Given the description of an element on the screen output the (x, y) to click on. 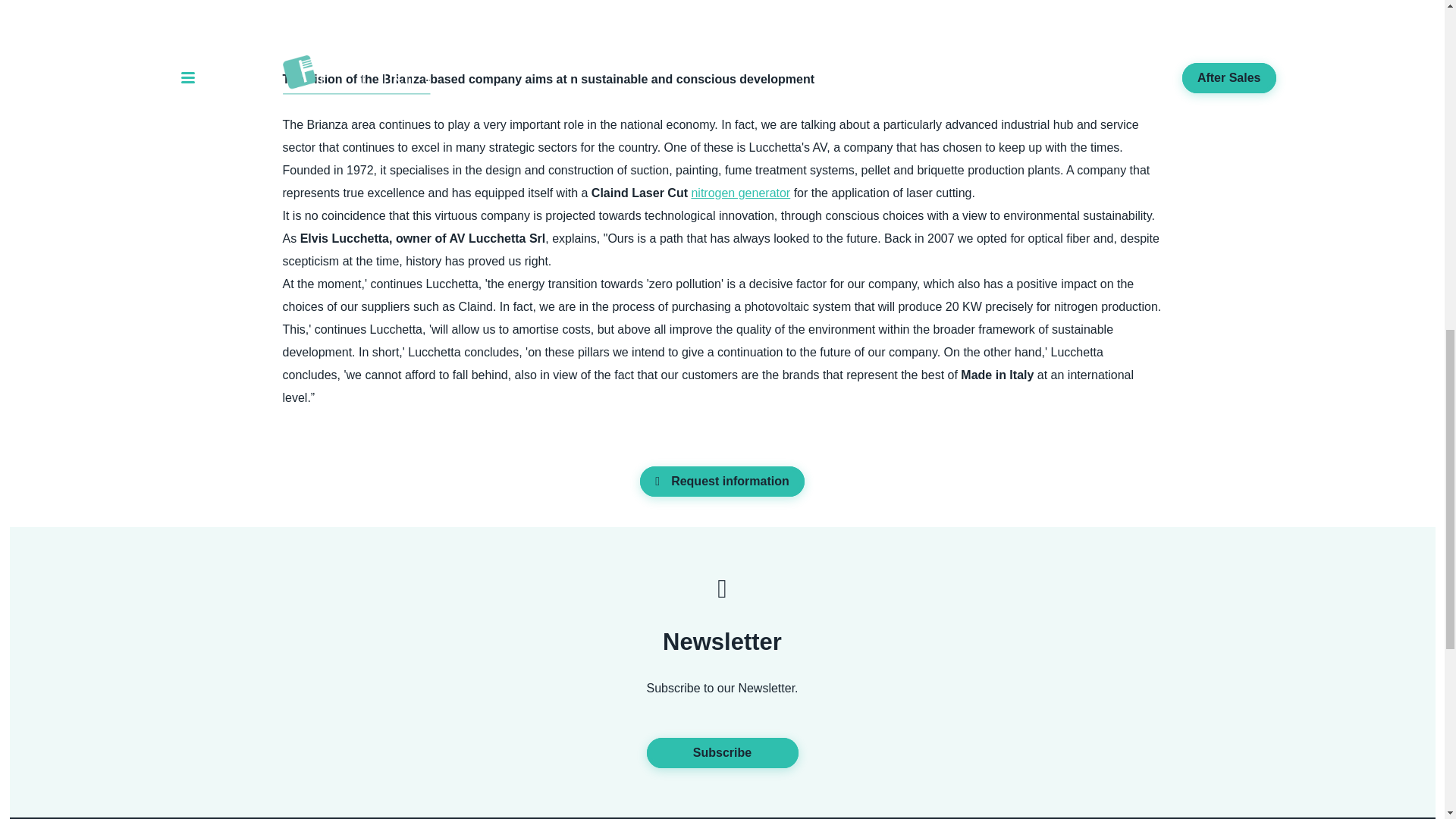
Request information (721, 481)
Subscribe (721, 752)
nitrogen generator (740, 192)
